Given the description of an element on the screen output the (x, y) to click on. 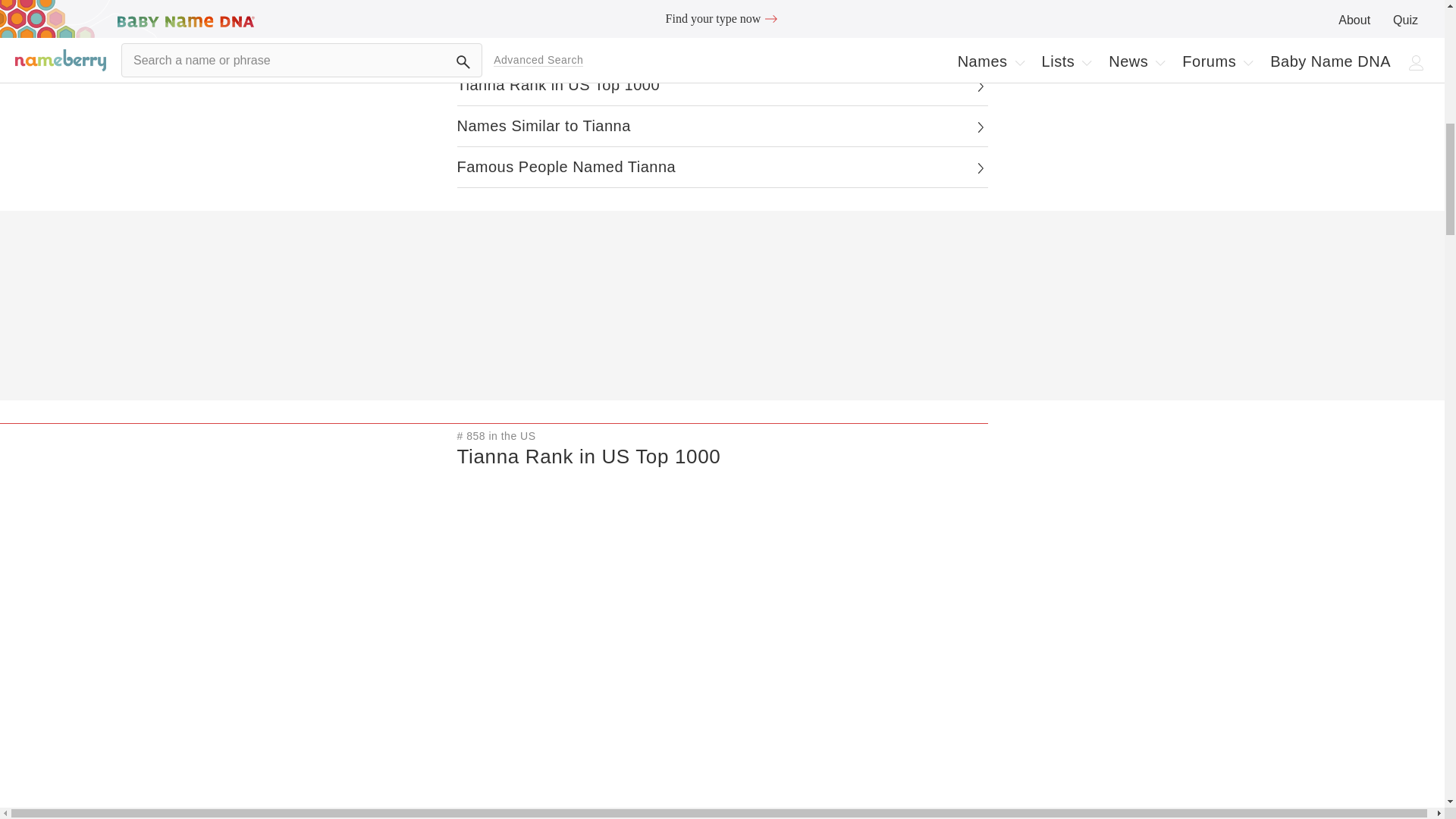
Chevron - Right (979, 86)
Chevron - Right (979, 127)
Chevron - Right (722, 85)
